Given the description of an element on the screen output the (x, y) to click on. 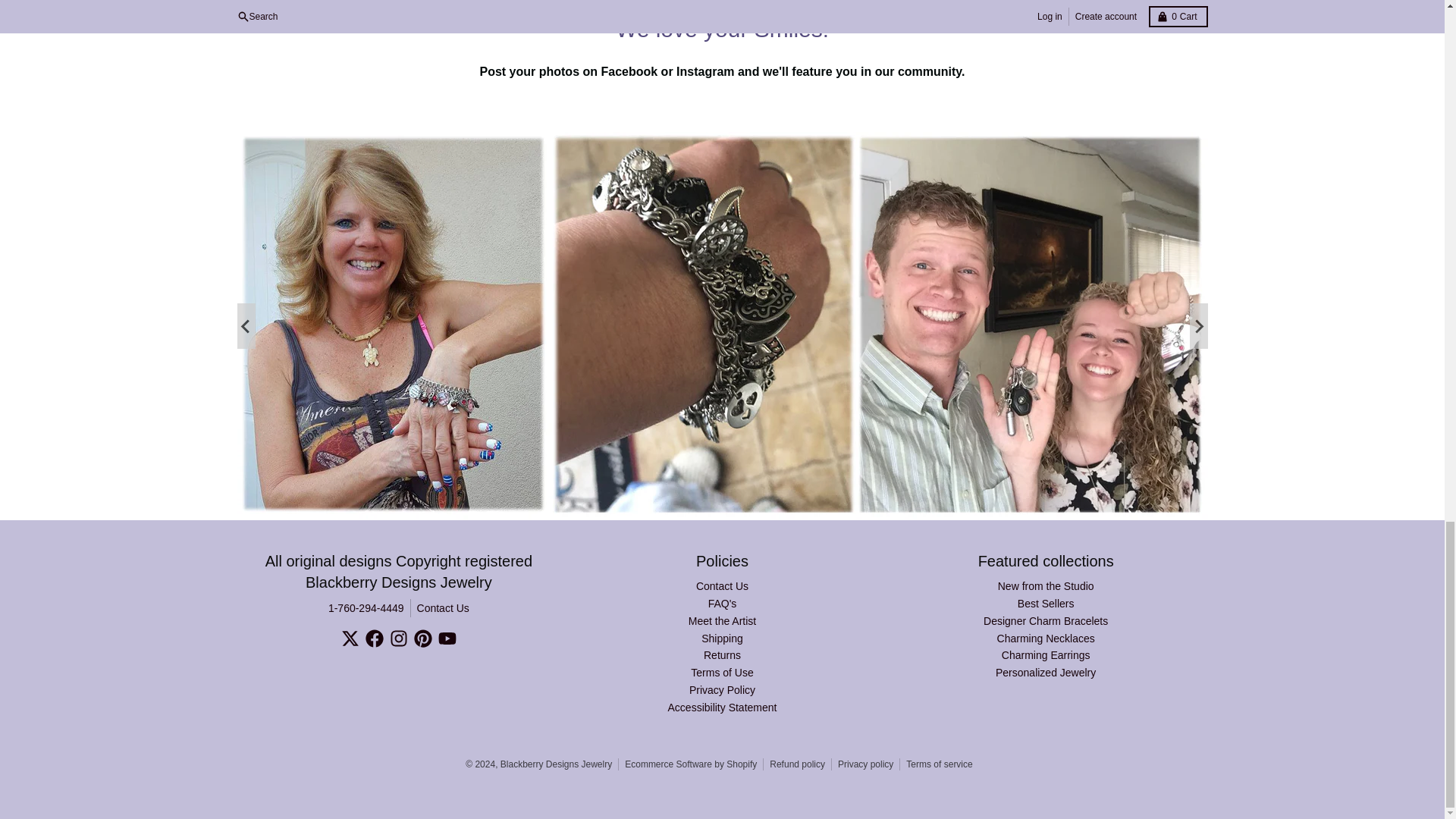
YouTube - Blackberry Designs Jewelry (447, 638)
Instagram - Blackberry Designs Jewelry (398, 638)
Facebook - Blackberry Designs Jewelry (374, 638)
Twitter - Blackberry Designs Jewelry (349, 638)
Pinterest - Blackberry Designs Jewelry (422, 638)
